Given the description of an element on the screen output the (x, y) to click on. 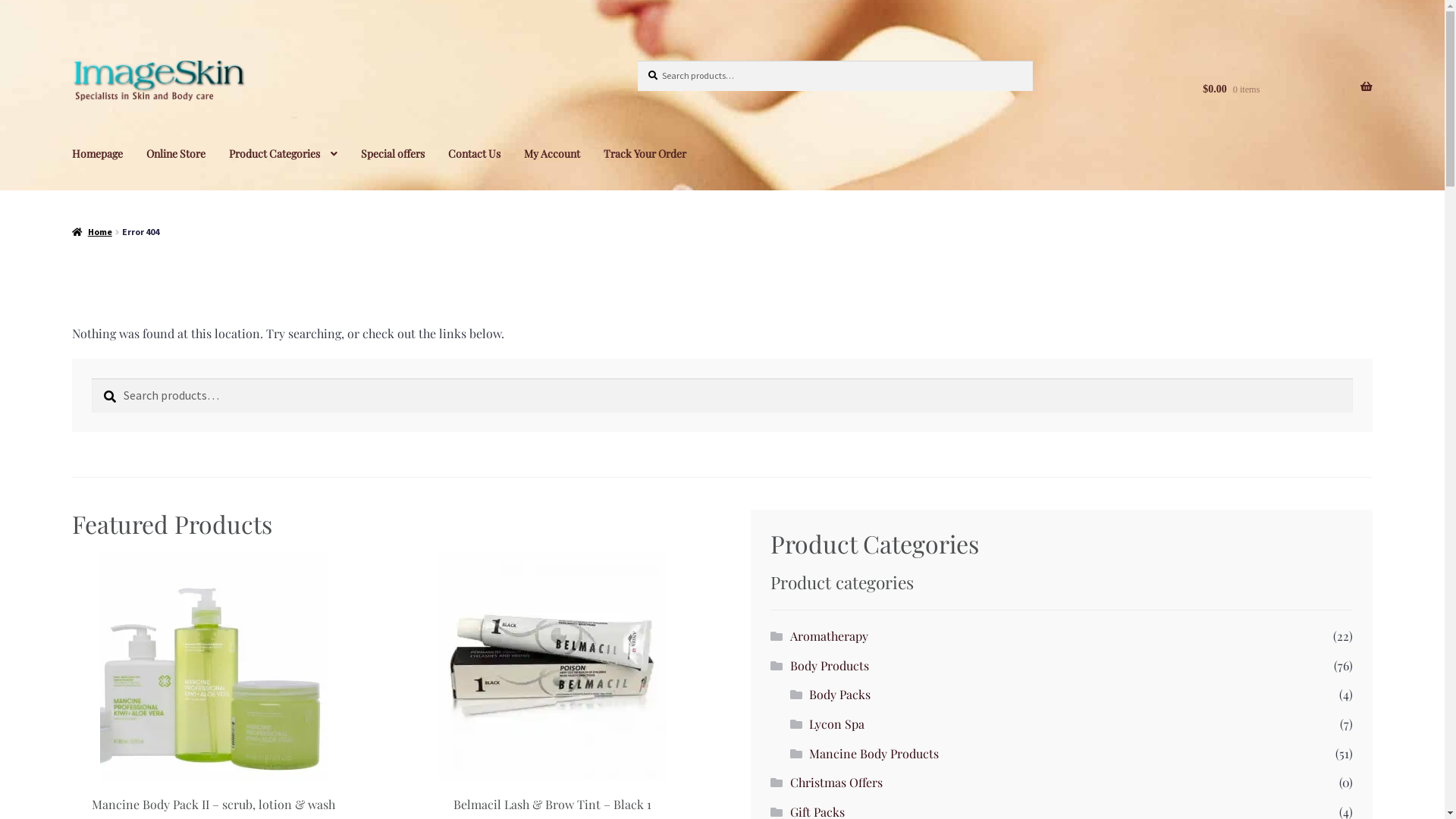
Body Products Element type: text (829, 665)
Mancine Body Products Element type: text (873, 753)
$0.00 0 items Element type: text (1287, 88)
Contact Us Element type: text (474, 153)
Track Your Order Element type: text (644, 153)
Search Element type: text (91, 377)
My Account Element type: text (551, 153)
Home Element type: text (91, 231)
Body Packs Element type: text (839, 694)
Search Element type: text (637, 59)
Product Categories Element type: text (283, 153)
Special offers Element type: text (392, 153)
Lycon Spa Element type: text (836, 723)
Aromatherapy Element type: text (829, 635)
Homepage Element type: text (97, 153)
Online Store Element type: text (175, 153)
Christmas Offers Element type: text (836, 782)
